Given the description of an element on the screen output the (x, y) to click on. 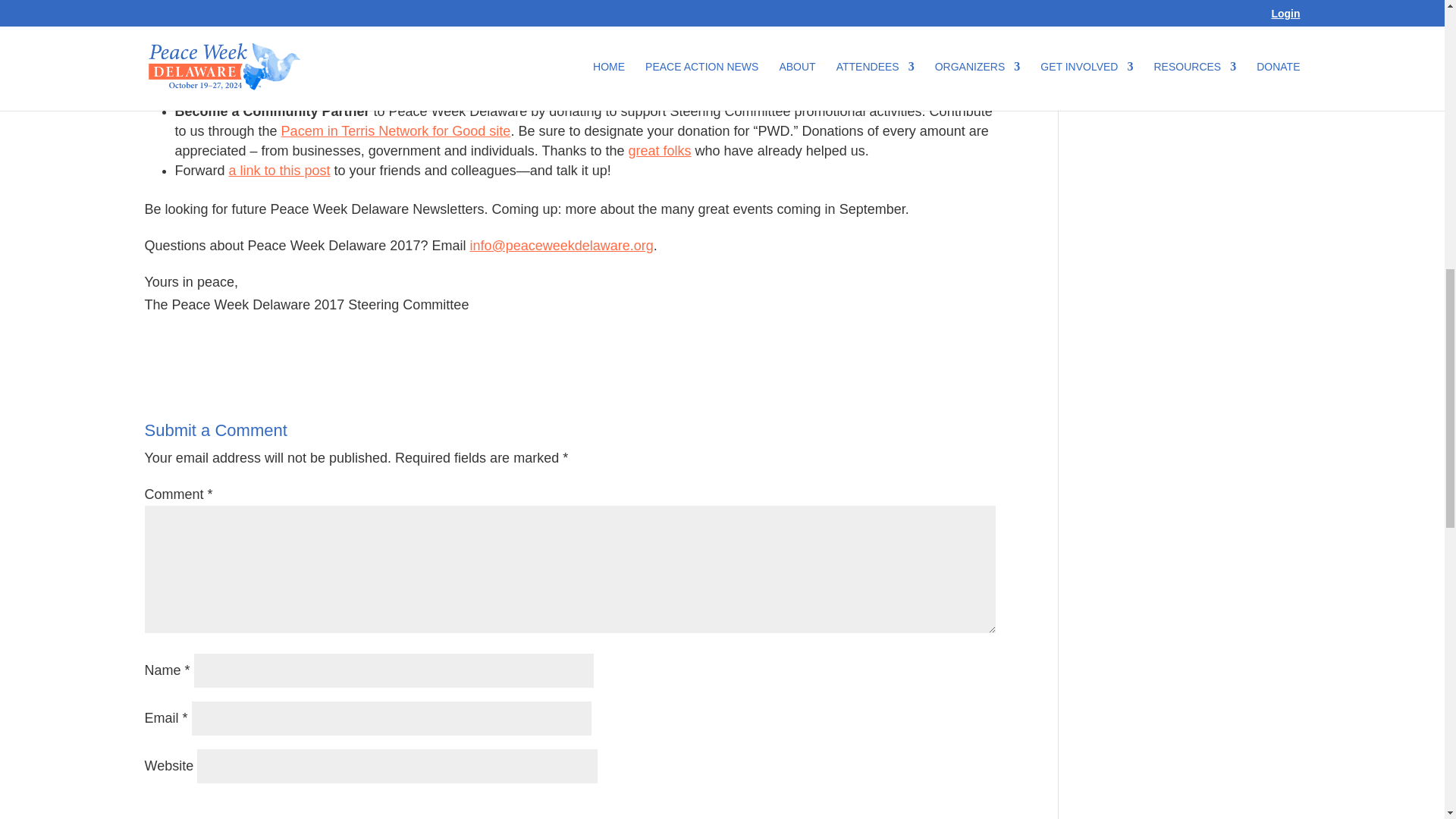
Submit Comment (909, 813)
Pacem in Terris Network for Good site (396, 130)
Submit Comment (909, 813)
great folks (659, 150)
FB page (470, 71)
a link to this post (279, 170)
